Given the description of an element on the screen output the (x, y) to click on. 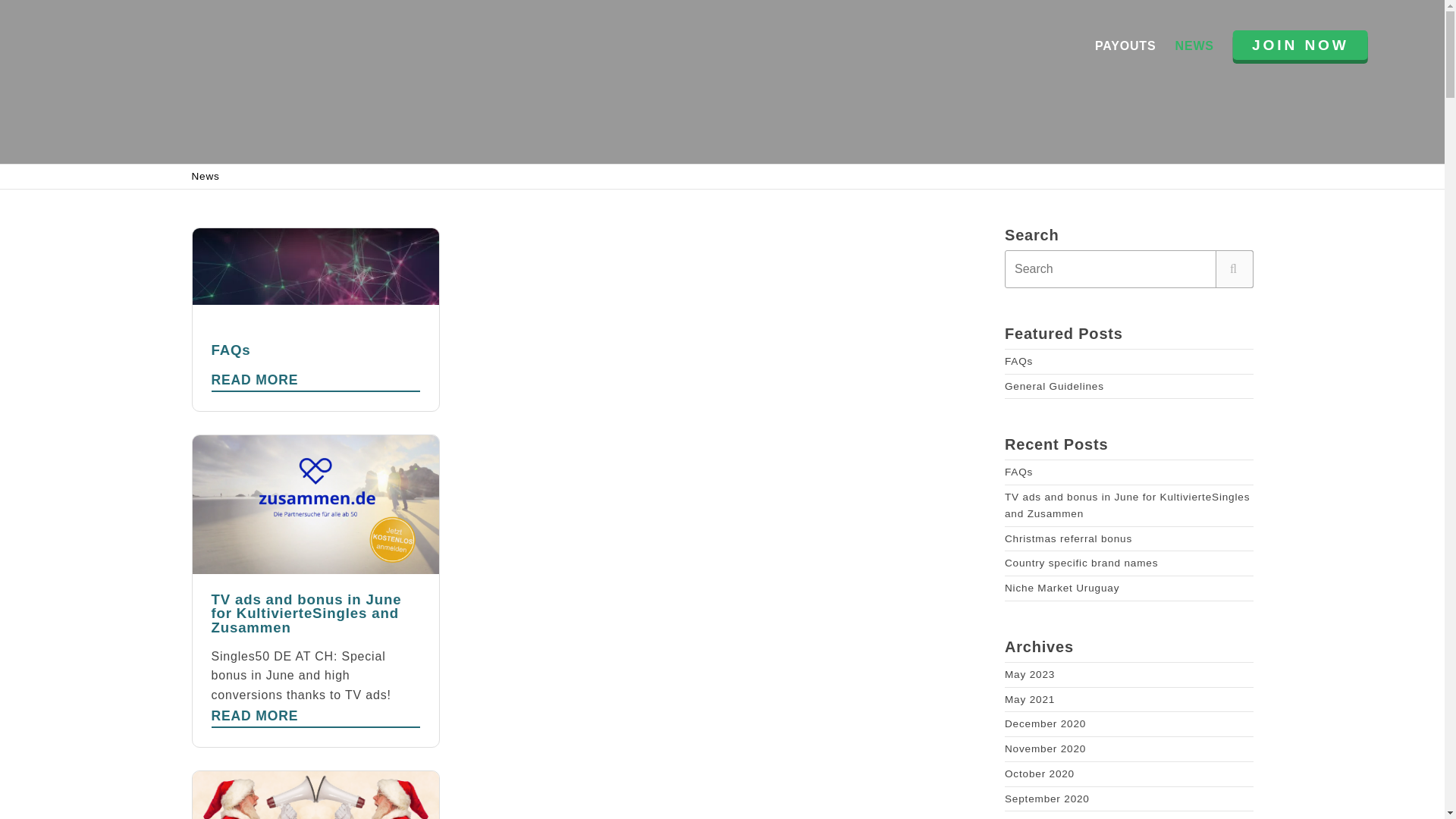
Christmas referral bonus (1068, 537)
PAYOUTS (1125, 45)
Niche Market Uruguay (1061, 587)
TV ads and bonus in June for KultivierteSingles and Zusammen (1126, 505)
NEWS (315, 319)
FAQs (1194, 45)
JOIN NOW (1018, 360)
General Guidelines (1300, 44)
FAQs (1053, 386)
Country specific brand names (1018, 471)
